Given the description of an element on the screen output the (x, y) to click on. 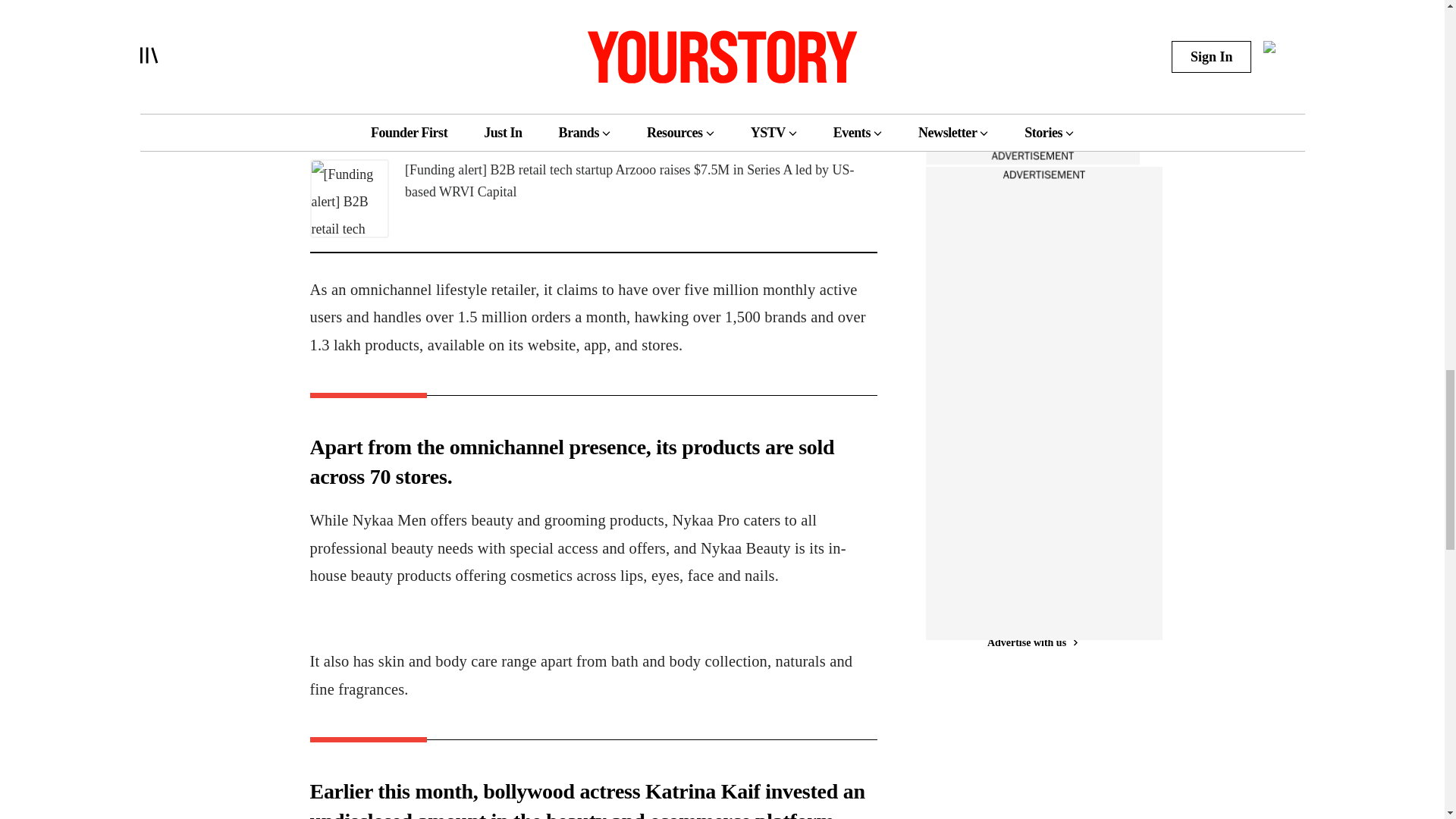
Advertise with us (1032, 155)
Advertise with us (1032, 642)
BOOKS (973, 62)
Historical Fiction: 5 Books That Bring History To Life (1012, 102)
